Given the description of an element on the screen output the (x, y) to click on. 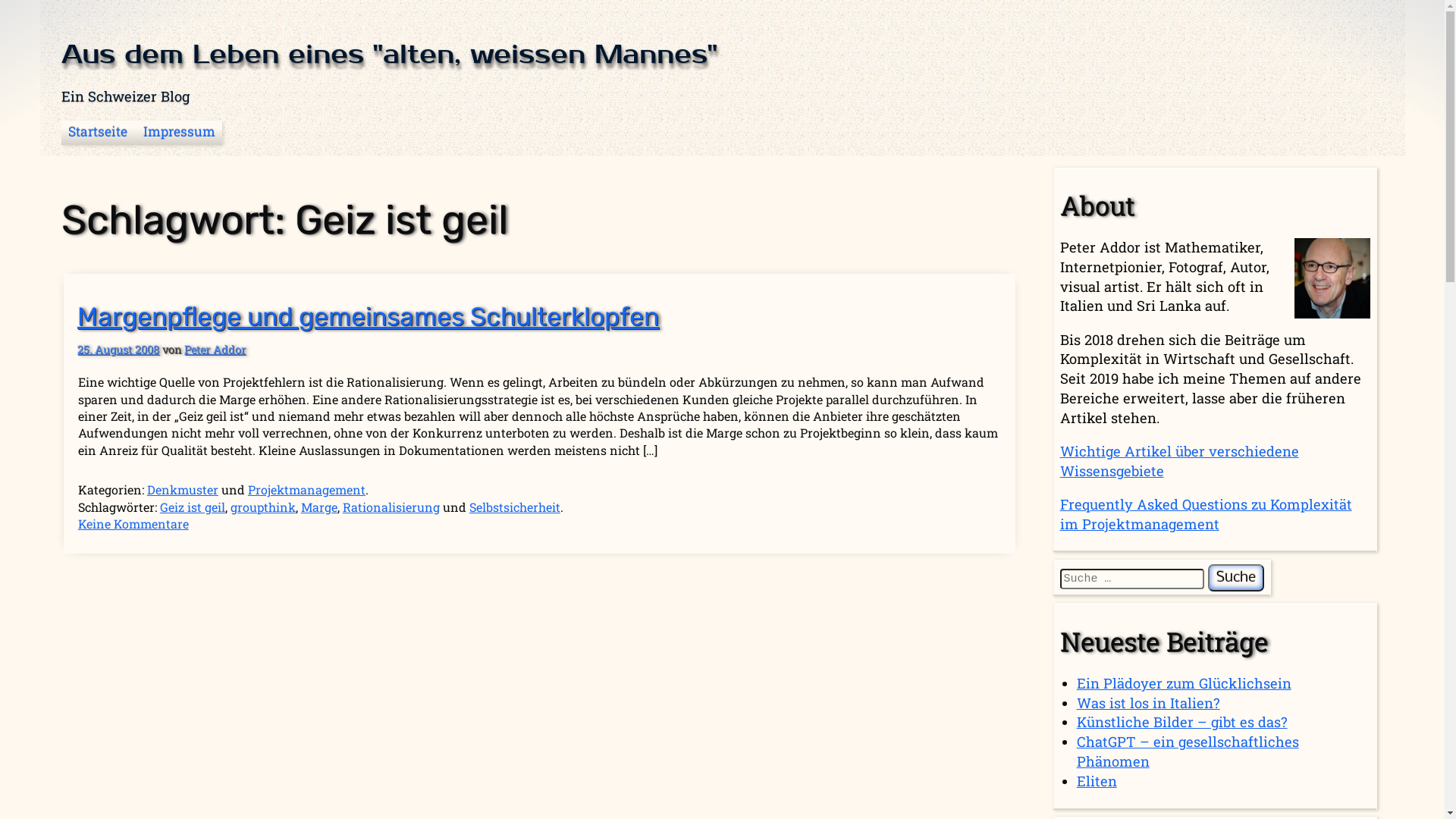
Marge Element type: text (319, 506)
Peter Addor Element type: text (214, 349)
Margenpflege und gemeinsames Schulterklopfen Element type: text (367, 316)
Suche Element type: text (1236, 577)
Projektmanagement Element type: text (306, 489)
Was ist los in Italien? Element type: text (1148, 702)
Geiz ist geil Element type: text (192, 506)
Aus dem Leben eines "alten, weissen Mannes" Element type: text (389, 54)
Selbstsicherheit Element type: text (514, 506)
Startseite Element type: text (97, 132)
25. August 2008 Element type: text (118, 349)
Denkmuster Element type: text (182, 489)
Rationalisierung Element type: text (390, 506)
groupthink Element type: text (262, 506)
Impressum Element type: text (179, 132)
Eliten Element type: text (1096, 780)
